Given the description of an element on the screen output the (x, y) to click on. 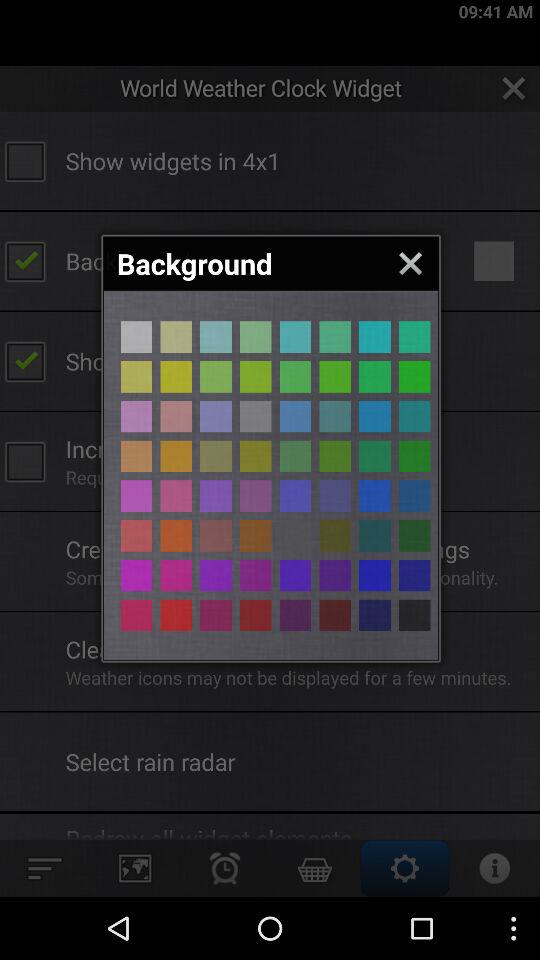
colour page (374, 615)
